Given the description of an element on the screen output the (x, y) to click on. 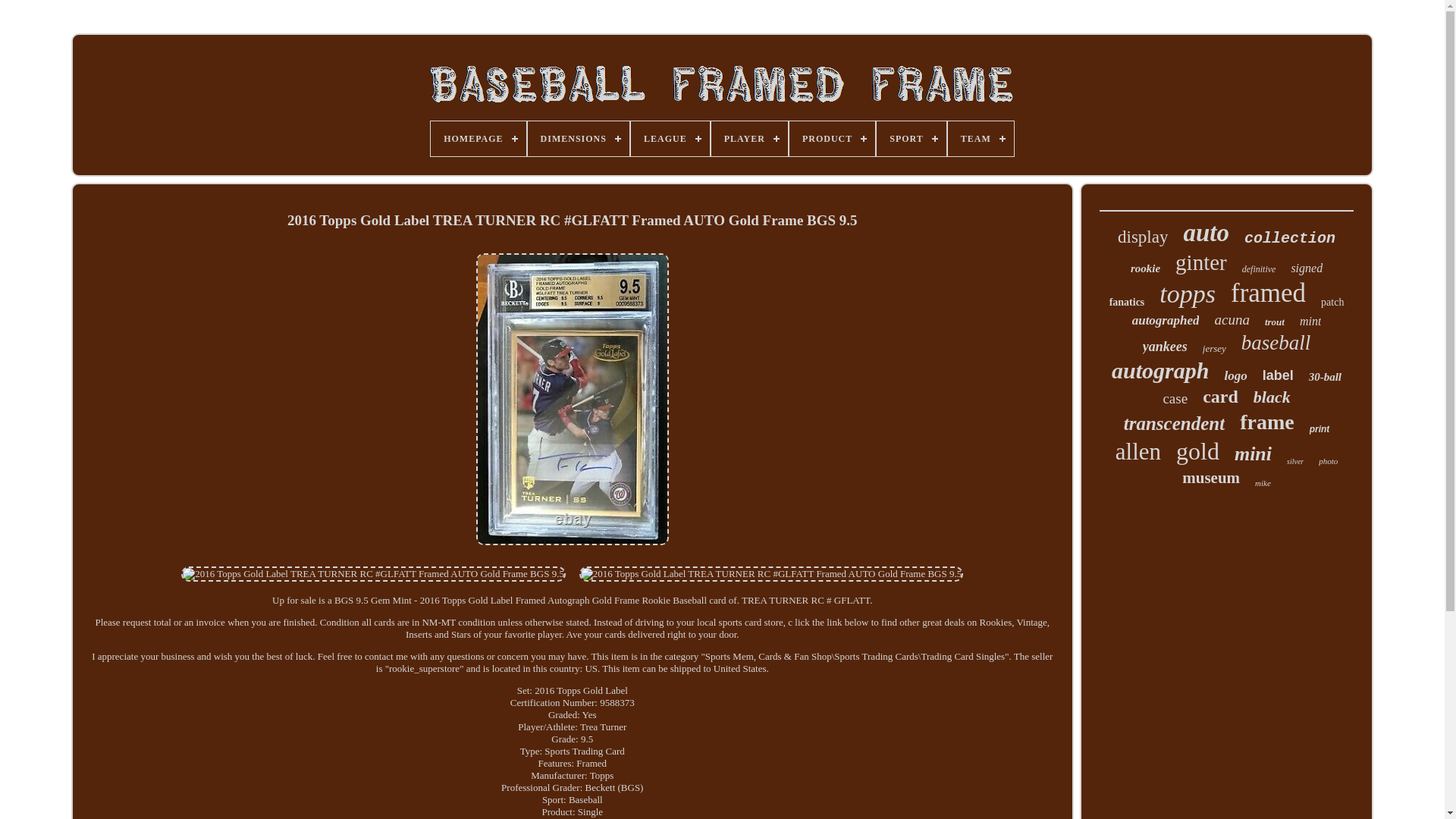
DIMENSIONS (577, 138)
LEAGUE (670, 138)
PLAYER (749, 138)
HOMEPAGE (477, 138)
